Given the description of an element on the screen output the (x, y) to click on. 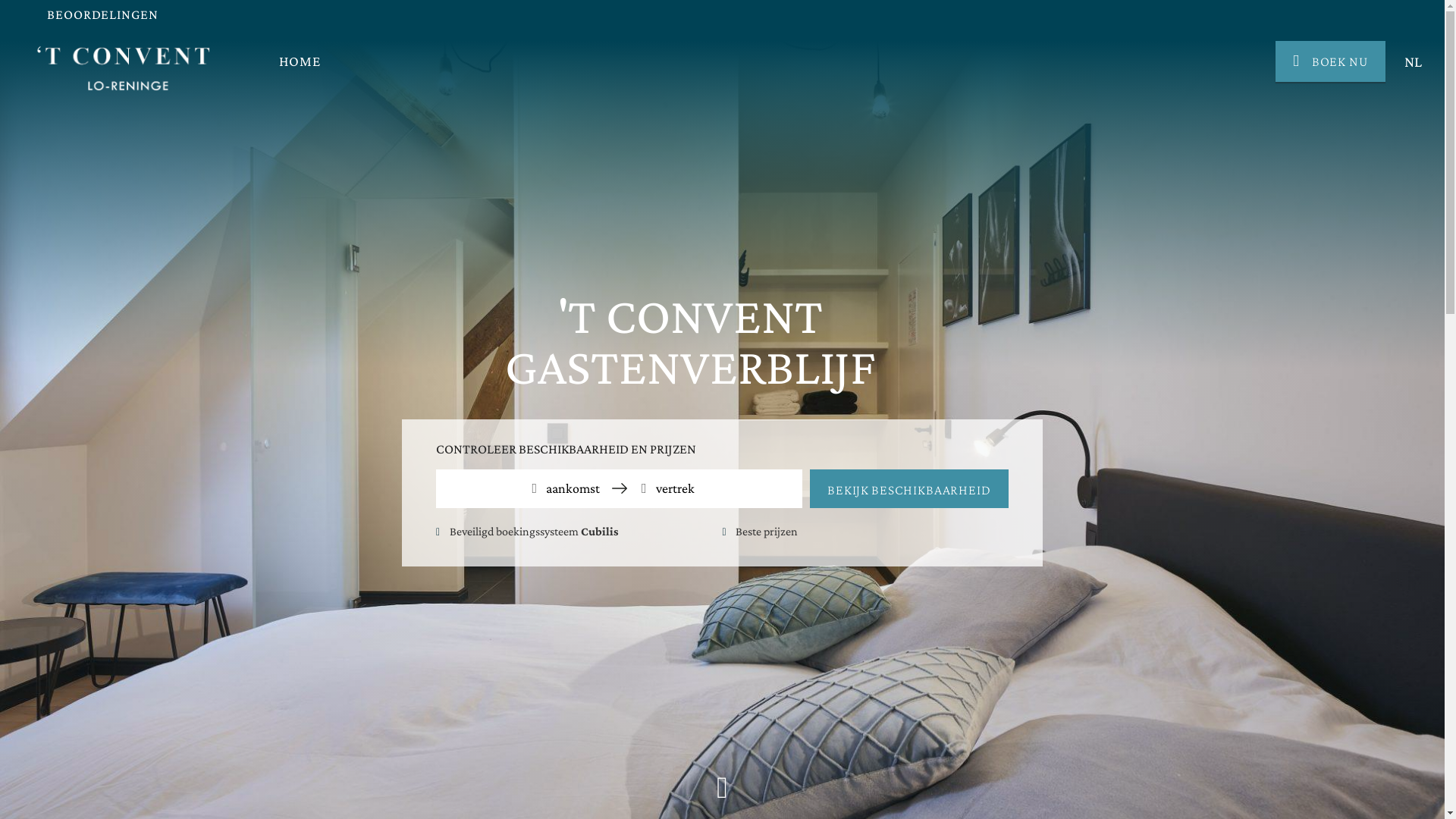
HOME Element type: text (299, 61)
Cubilis Element type: text (599, 530)
BEKIJK BESCHIKBAARHEID Element type: text (908, 488)
't Convent 2.0 Element type: hover (124, 68)
BEOORDELINGEN Element type: text (102, 14)
BOEK NU Element type: text (1330, 61)
